Given the description of an element on the screen output the (x, y) to click on. 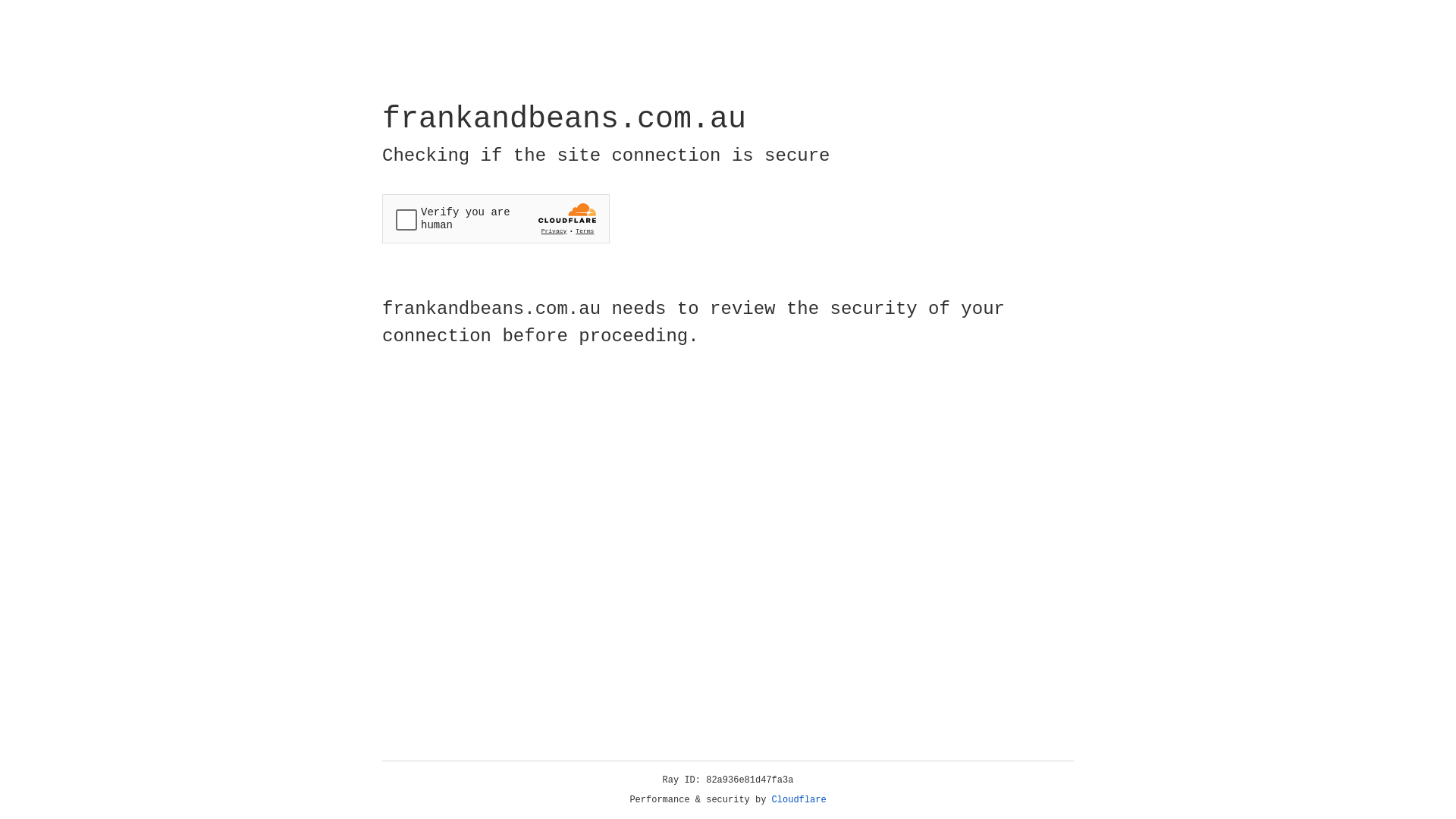
Widget containing a Cloudflare security challenge Element type: hover (495, 218)
Cloudflare Element type: text (798, 799)
